Given the description of an element on the screen output the (x, y) to click on. 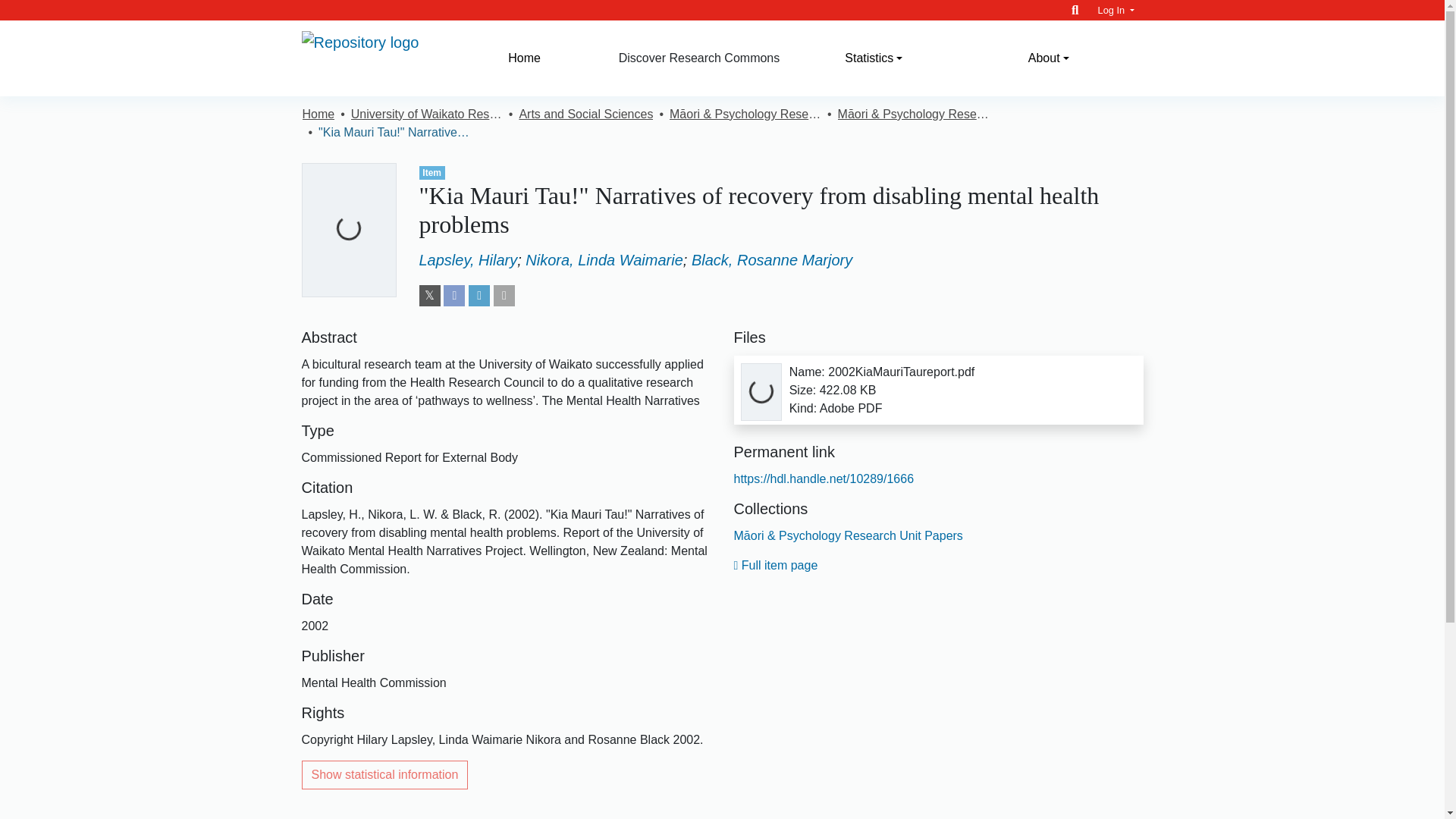
Home (523, 58)
Nikora, Linda Waimarie (603, 259)
Statistics (873, 58)
Arts and Social Sciences (585, 114)
Lapsley, Hilary (467, 259)
University of Waikato Research (426, 114)
About (1047, 58)
Home (317, 114)
Black, Rosanne Marjory (771, 259)
Search (1075, 10)
Full item page (775, 564)
Log In (1115, 9)
Show statistical information (384, 774)
Home (523, 58)
